Given the description of an element on the screen output the (x, y) to click on. 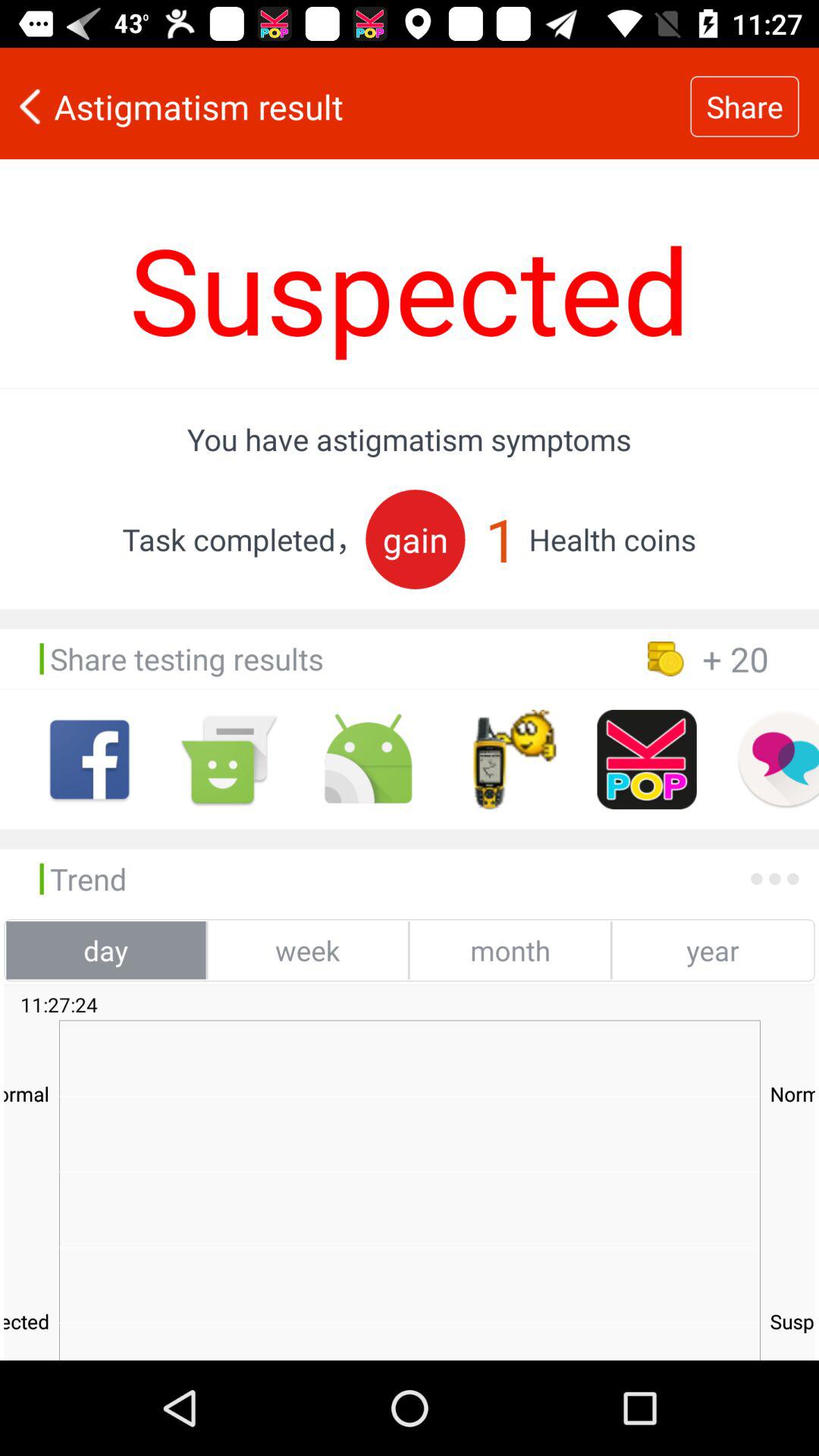
share to android (368, 759)
